Given the description of an element on the screen output the (x, y) to click on. 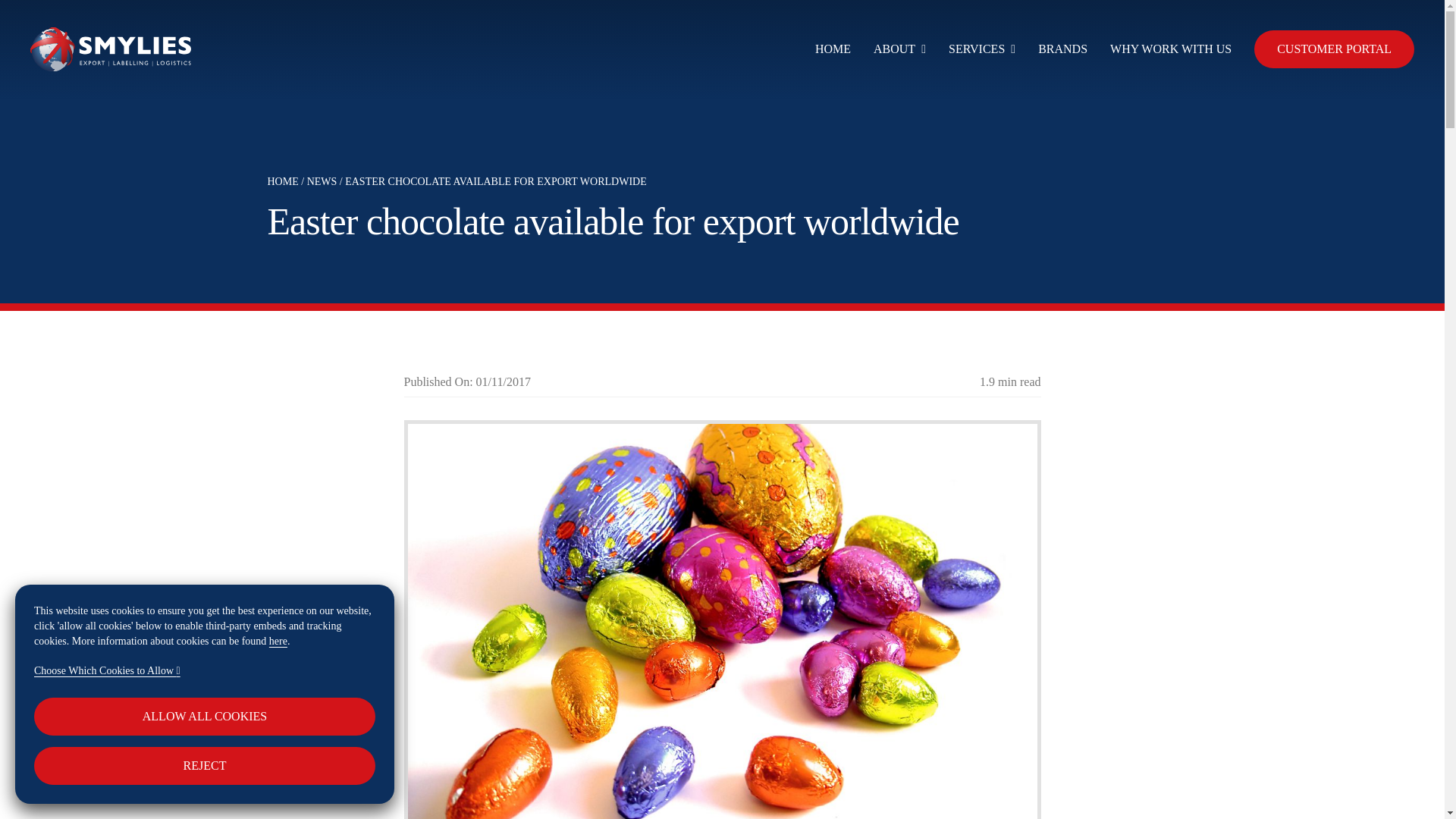
BRANDS (1062, 49)
SERVICES (981, 49)
WHY WORK WITH US (1170, 49)
ABOUT (899, 49)
CUSTOMER PORTAL (1333, 49)
